Given the description of an element on the screen output the (x, y) to click on. 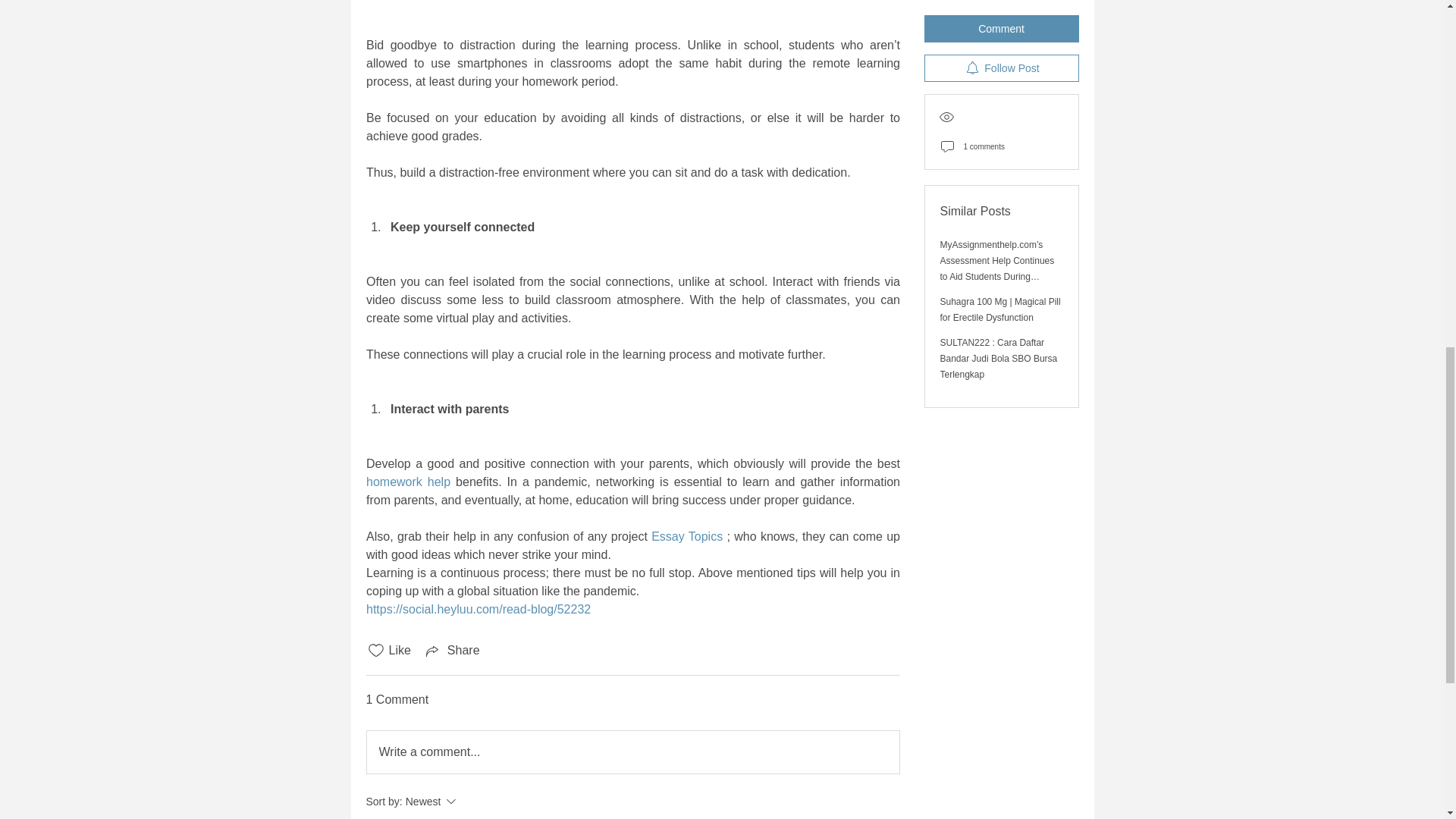
Essay Topics (686, 535)
homework help (407, 481)
Write a comment... (632, 752)
Share (471, 801)
